Given the description of an element on the screen output the (x, y) to click on. 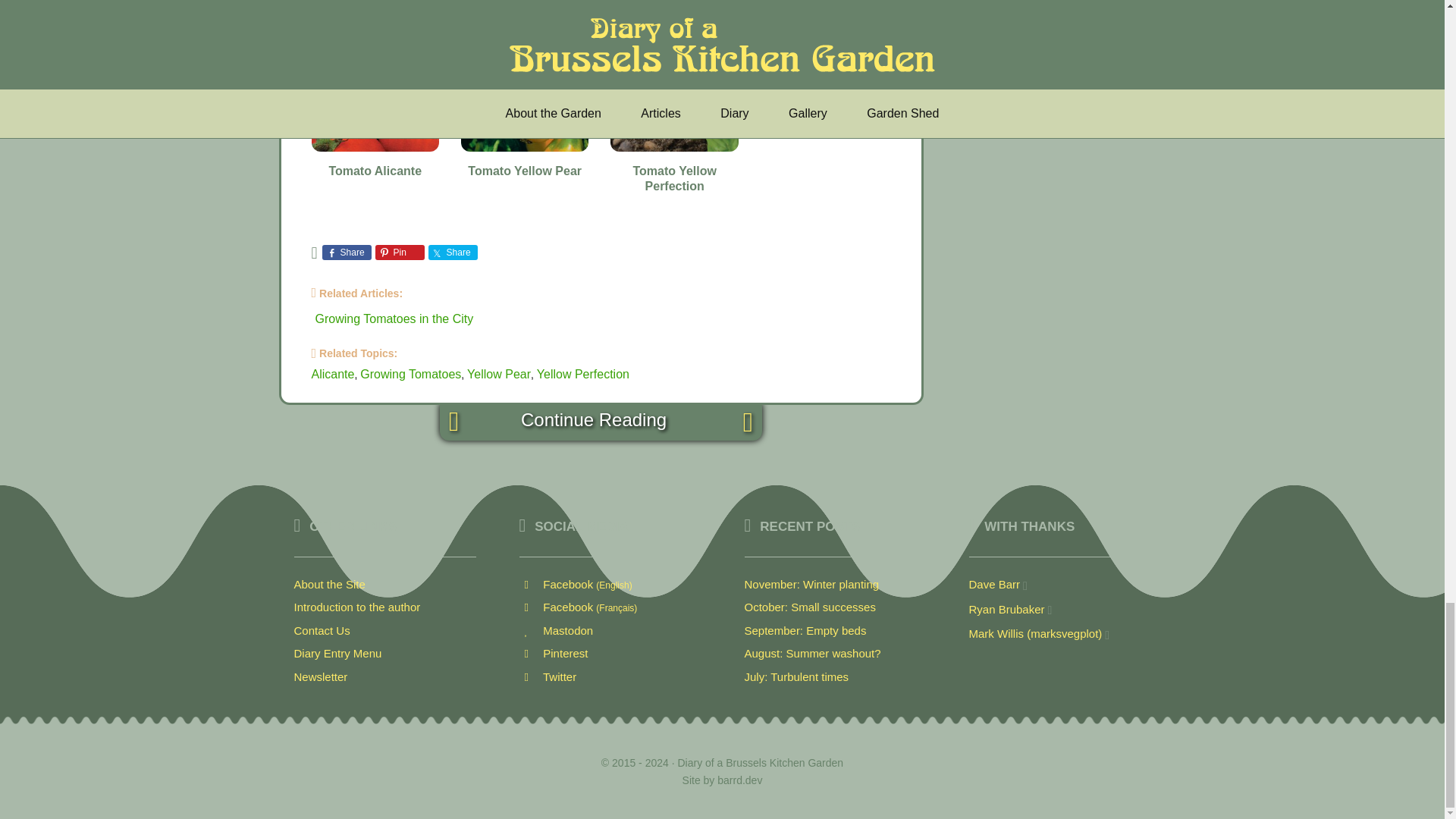
Facebook (577, 606)
Dave Barr (994, 584)
Share (346, 252)
barrd home (739, 779)
Ryan Brubaker (1007, 608)
Growing Tomatoes in the City (394, 318)
Newsletter (320, 676)
Twitter (547, 676)
Yellow Pear (499, 373)
Diary Entry Menu (337, 653)
Share (452, 252)
Pinterest (553, 653)
About the Site (329, 584)
Introduction to the author (357, 606)
Alicante (332, 373)
